Given the description of an element on the screen output the (x, y) to click on. 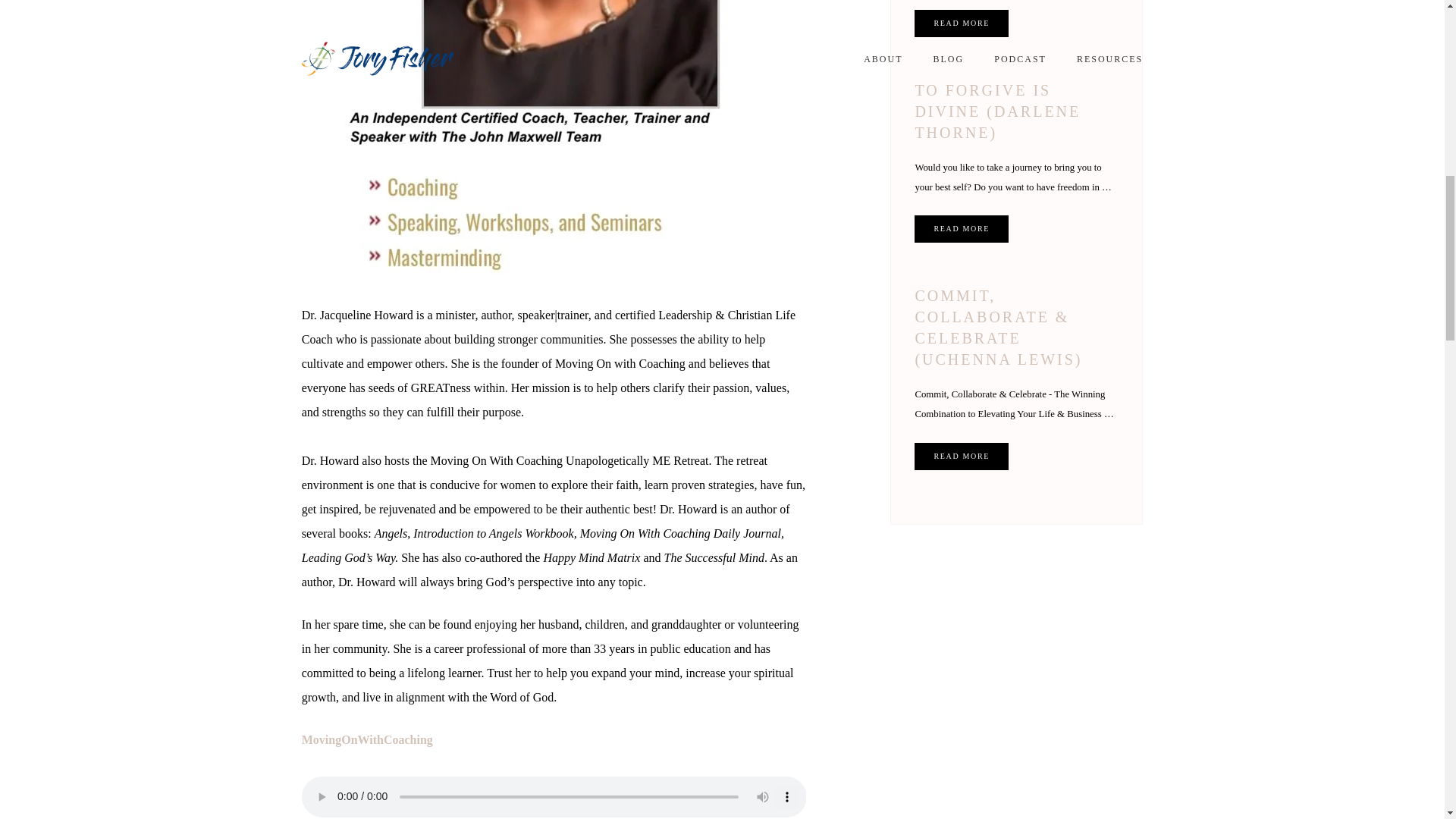
MovingOnWithCoaching (366, 739)
